Given the description of an element on the screen output the (x, y) to click on. 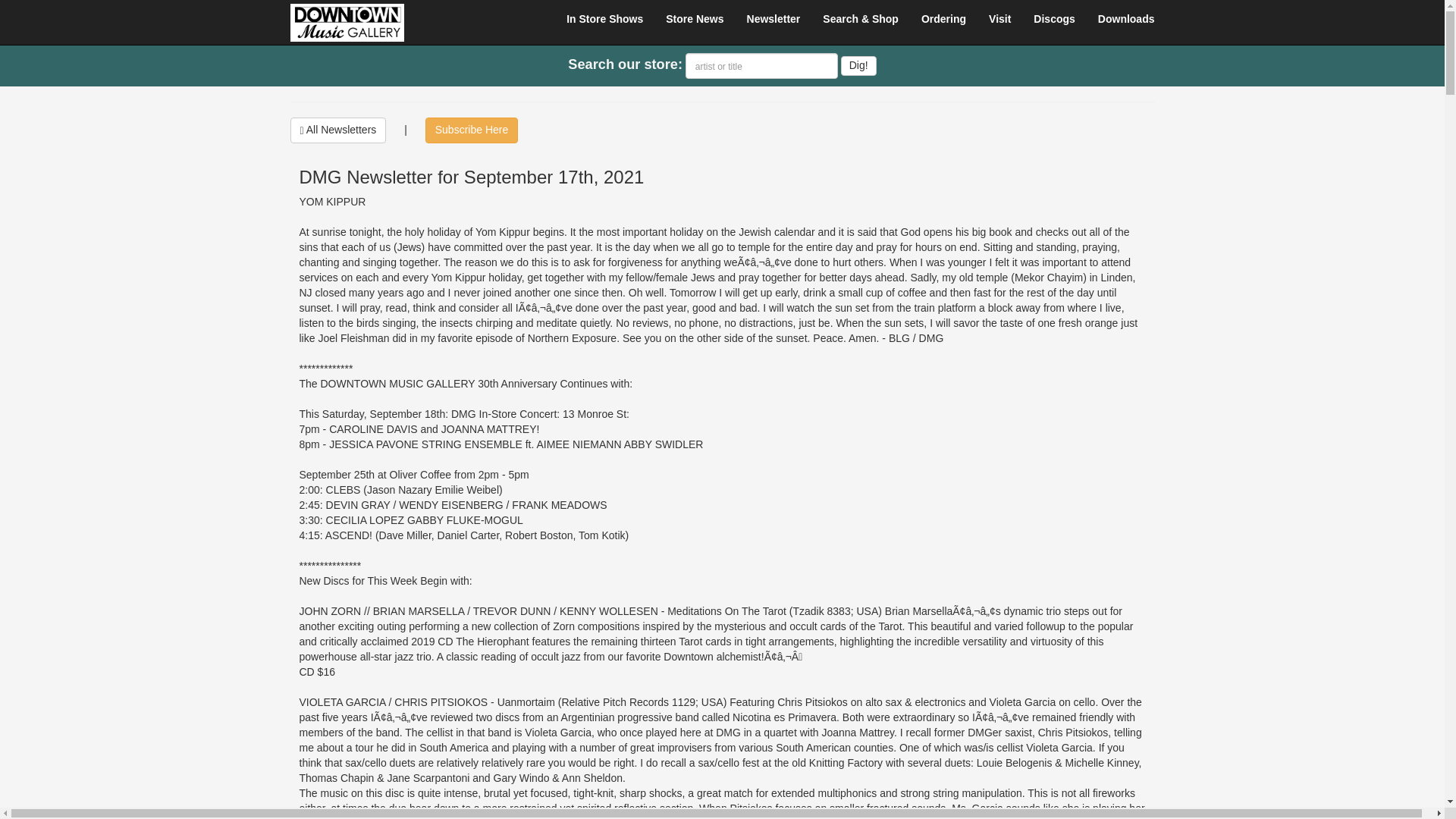
All Newsletters (337, 130)
Store News (694, 18)
Subscribe Here (471, 130)
Dig! (858, 66)
In Store Shows (603, 18)
Newsletter (773, 18)
Dig! (858, 66)
Ordering (943, 18)
Downloads (1126, 18)
Visit (999, 18)
Discogs (1054, 18)
